Given the description of an element on the screen output the (x, y) to click on. 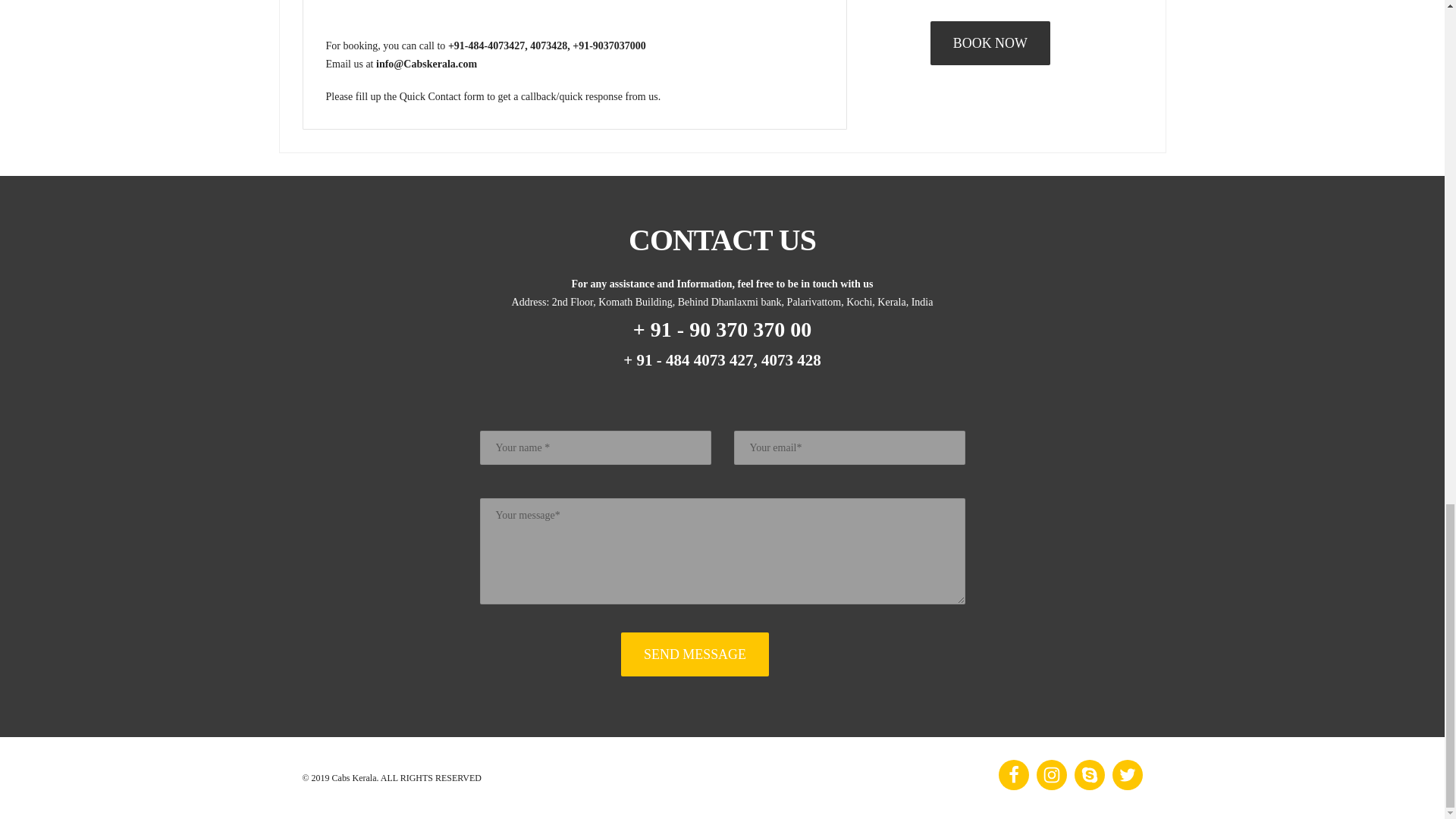
Send message (694, 654)
Book Now (989, 43)
Instagram (1050, 775)
Send message (694, 654)
Skype (1088, 775)
Twitter (1126, 775)
Book Now (989, 43)
Facebook (1012, 775)
